Given the description of an element on the screen output the (x, y) to click on. 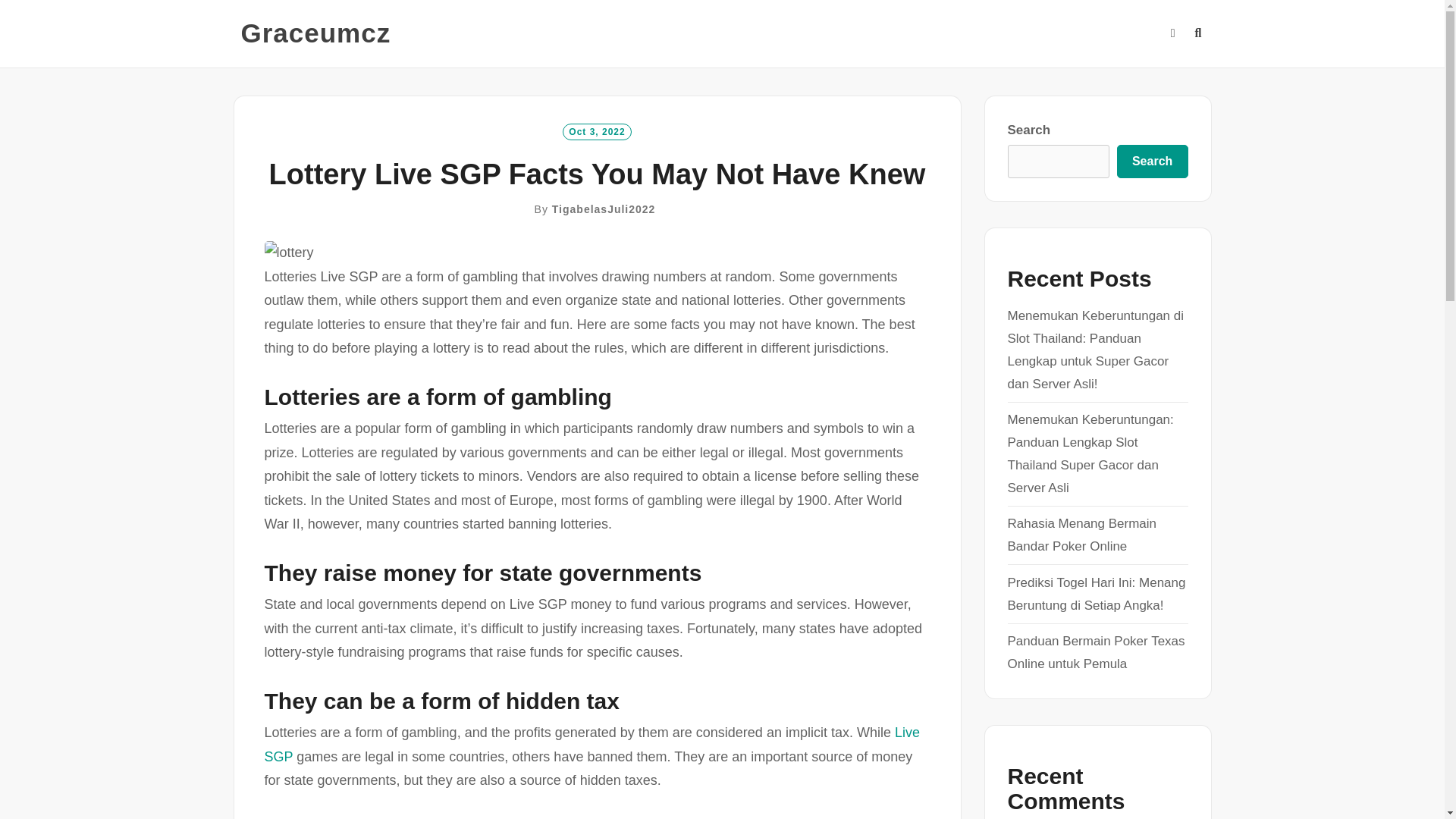
Live SGP (590, 744)
Panduan Bermain Poker Texas Online untuk Pemula (1096, 651)
Prediksi Togel Hari Ini: Menang Beruntung di Setiap Angka! (1096, 593)
Oct 3, 2022 (596, 130)
Graceumcz (316, 33)
Search (1152, 161)
Rahasia Menang Bermain Bandar Poker Online (1081, 534)
TigabelasJuli2022 (603, 209)
